Given the description of an element on the screen output the (x, y) to click on. 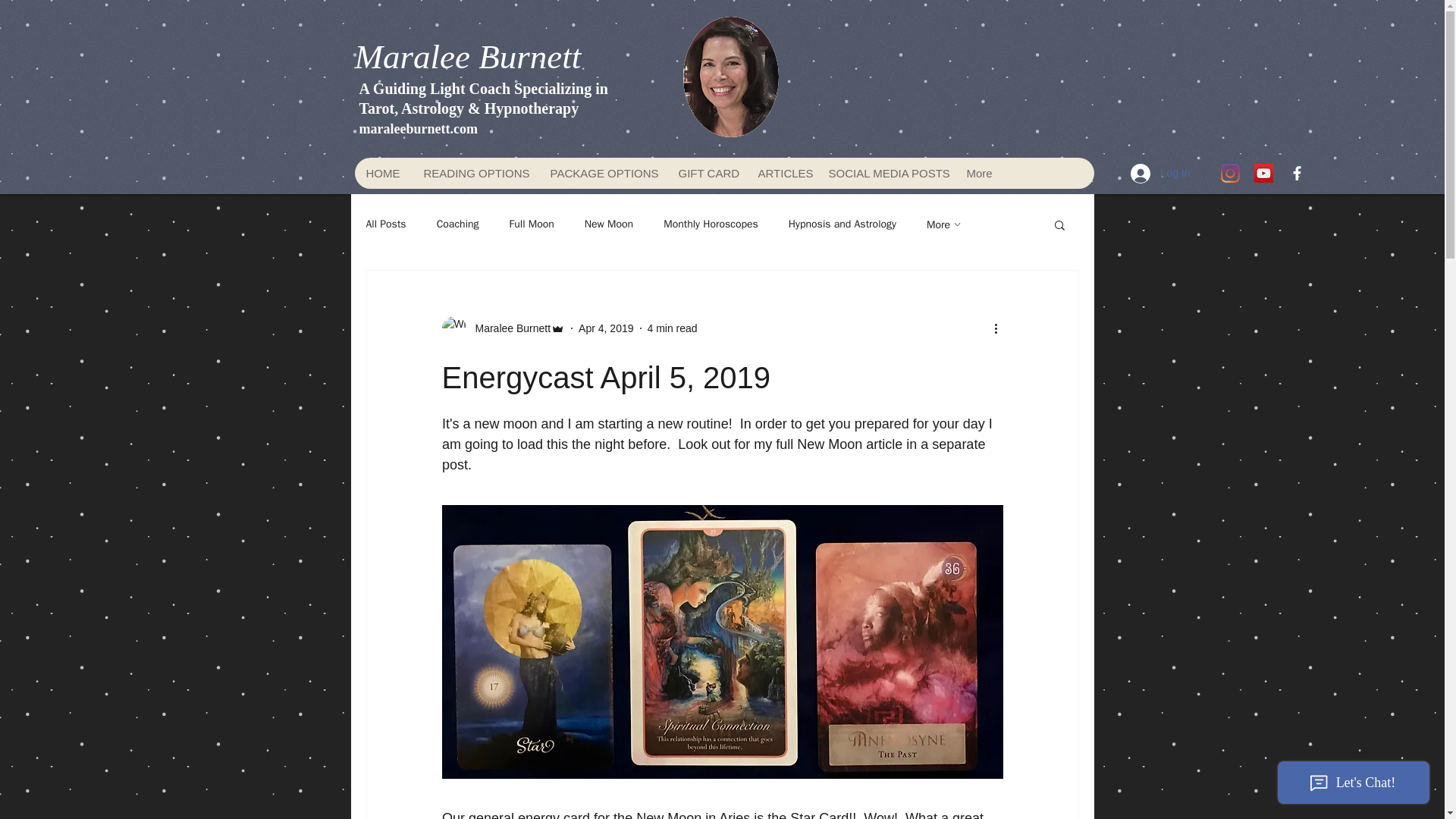
ARTICLES (780, 173)
Log In (1160, 173)
All Posts (385, 223)
Monthly Horoscopes (710, 223)
A Guiding Light Coach Specializing in (483, 88)
4 min read (672, 327)
Coaching (457, 223)
Apr 4, 2019 (605, 327)
Hypnosis and Astrology (842, 223)
SOCIAL MEDIA POSTS (884, 173)
READING OPTIONS (473, 173)
New Moon (609, 223)
HOME (383, 173)
Full Moon (531, 223)
Maralee Burnett (507, 327)
